Given the description of an element on the screen output the (x, y) to click on. 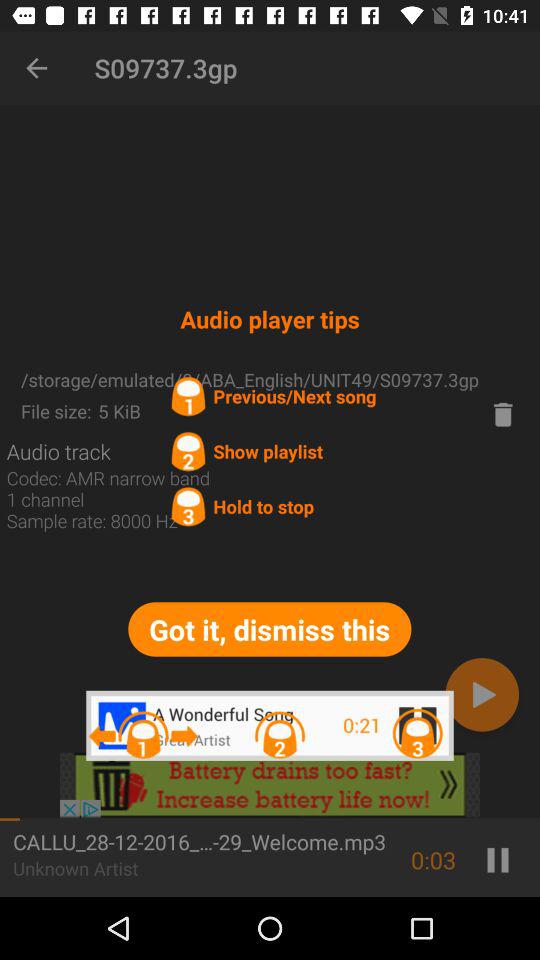
turn on icon above codec amr narrow icon (58, 451)
